Given the description of an element on the screen output the (x, y) to click on. 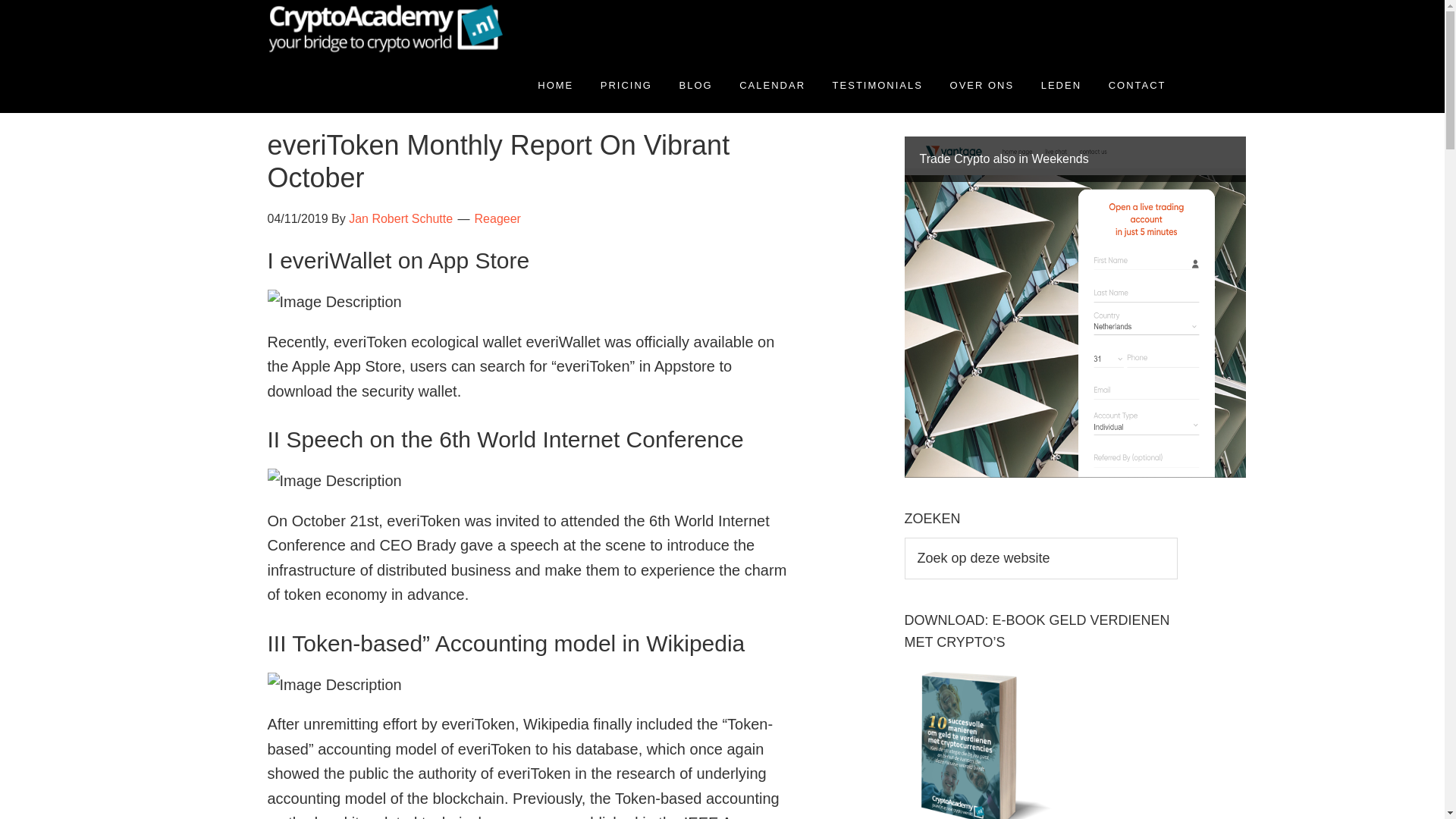
LEDEN (1061, 85)
CALENDAR (772, 85)
CONTACT (1137, 85)
BLOG (695, 85)
Reageer (497, 218)
OVER ONS (982, 85)
PRICING (626, 85)
Jan Robert Schutte (400, 218)
cryptoacademy.nl (403, 28)
TESTIMONIALS (877, 85)
HOME (555, 85)
